Given the description of an element on the screen output the (x, y) to click on. 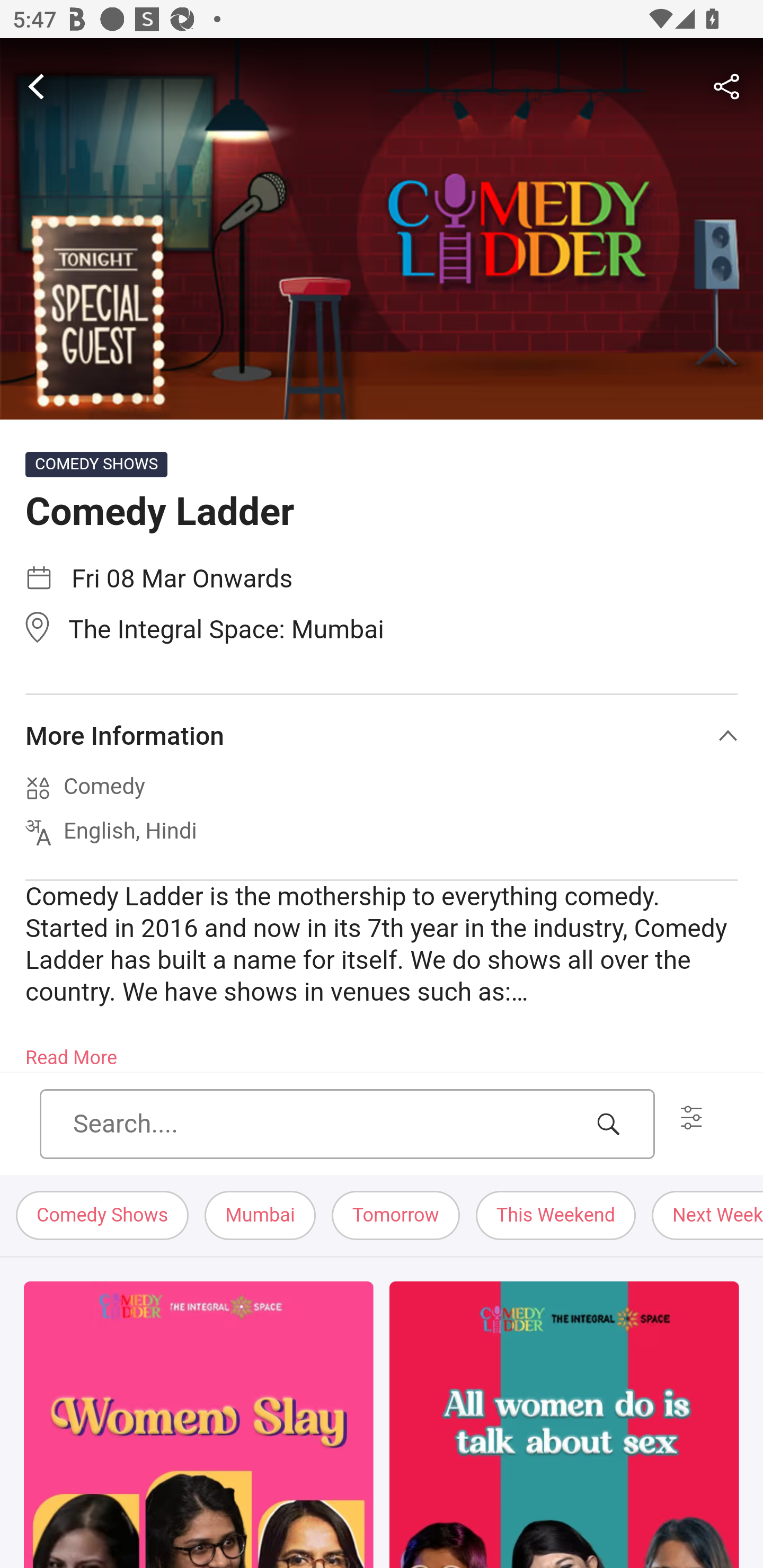
More Information (381, 735)
Read More (71, 1051)
Comedy Shows (102, 1215)
Mumbai (259, 1215)
Tomorrow (395, 1215)
This Weekend (556, 1215)
